Given the description of an element on the screen output the (x, y) to click on. 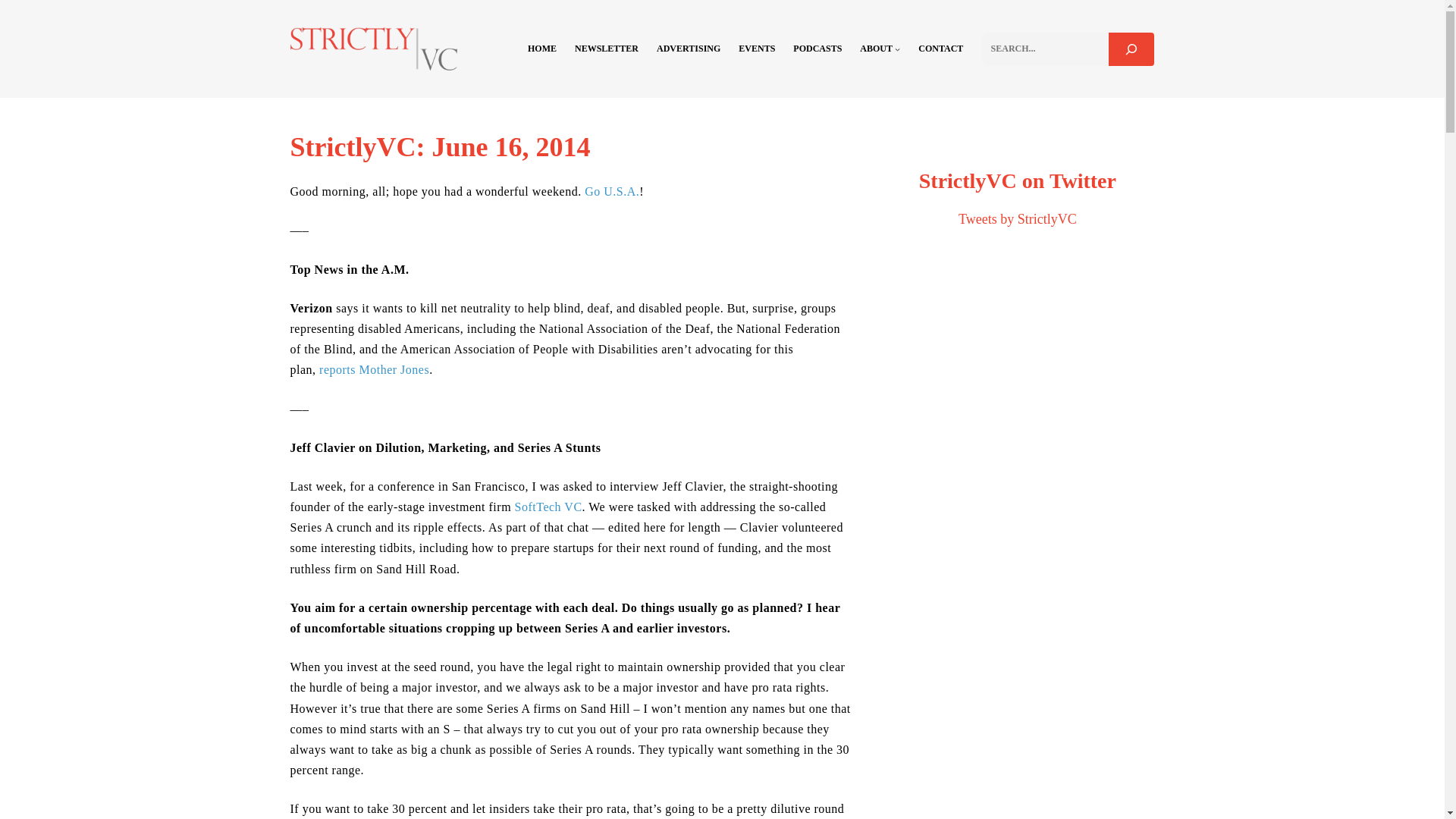
Go U.S.A. (612, 191)
ABOUT (876, 48)
PODCASTS (817, 48)
EVENTS (756, 48)
HOME (541, 48)
SoftTech VC (548, 506)
NEWSLETTER (607, 48)
reports Mother Jones (373, 369)
ADVERTISING (688, 48)
CONTACT (940, 48)
